Given the description of an element on the screen output the (x, y) to click on. 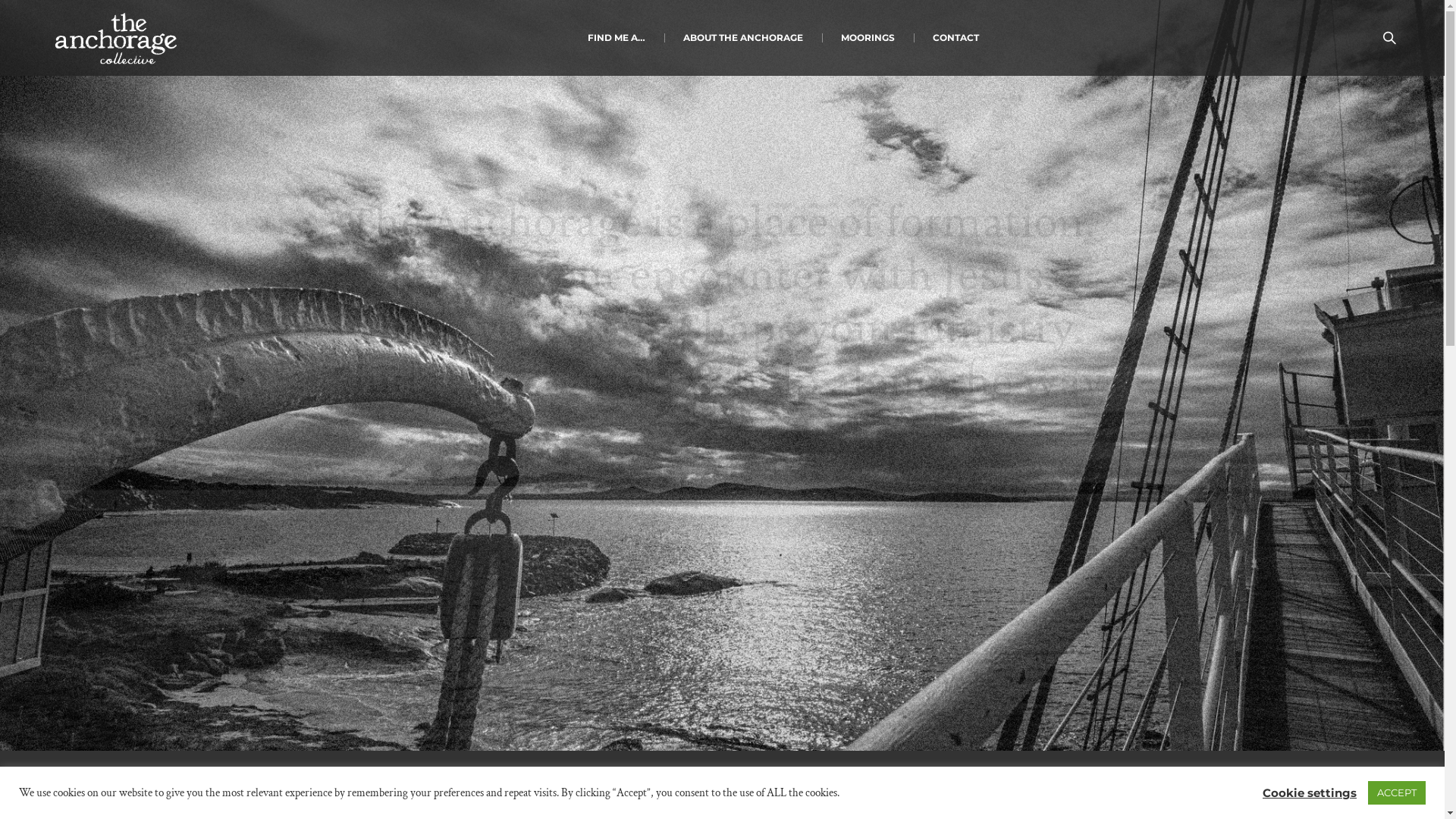
MOORINGS Element type: text (867, 37)
CONTACT Element type: text (955, 37)
ABOUT THE ANCHORAGE Element type: text (743, 37)
ACCEPT Element type: text (1396, 792)
Cookie settings Element type: text (1309, 792)
